Given the description of an element on the screen output the (x, y) to click on. 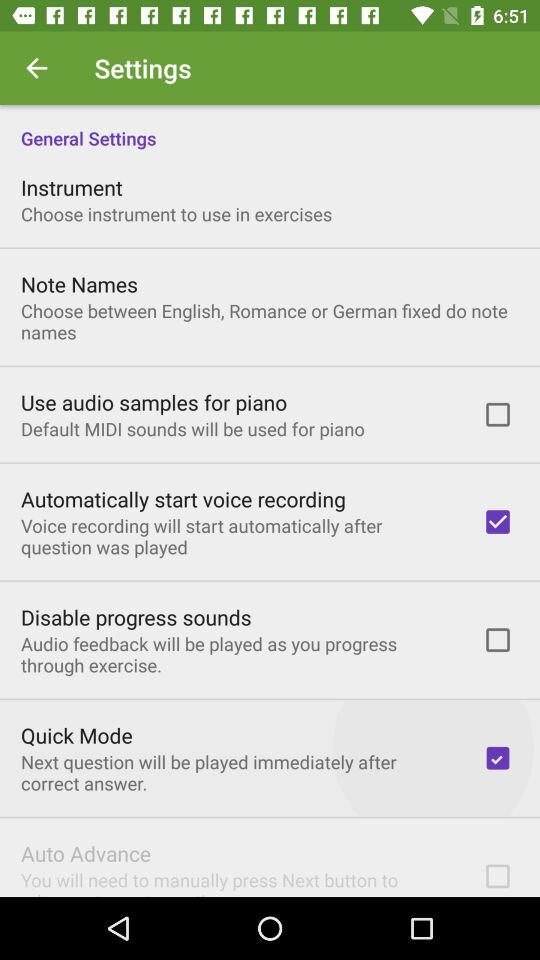
open icon above the note names item (176, 213)
